Given the description of an element on the screen output the (x, y) to click on. 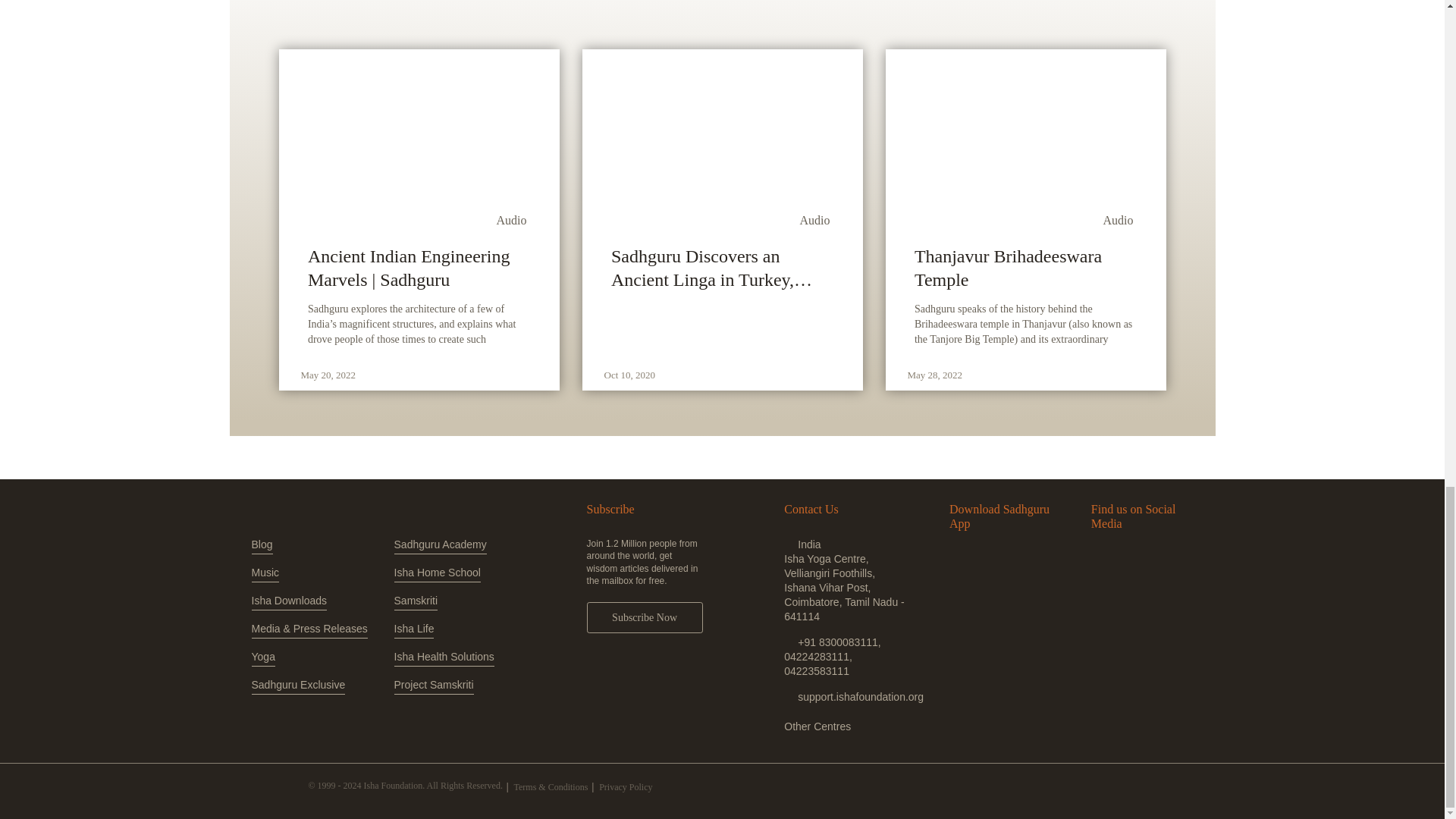
Thanjavur Brihadeeswara Temple (1025, 267)
